Given the description of an element on the screen output the (x, y) to click on. 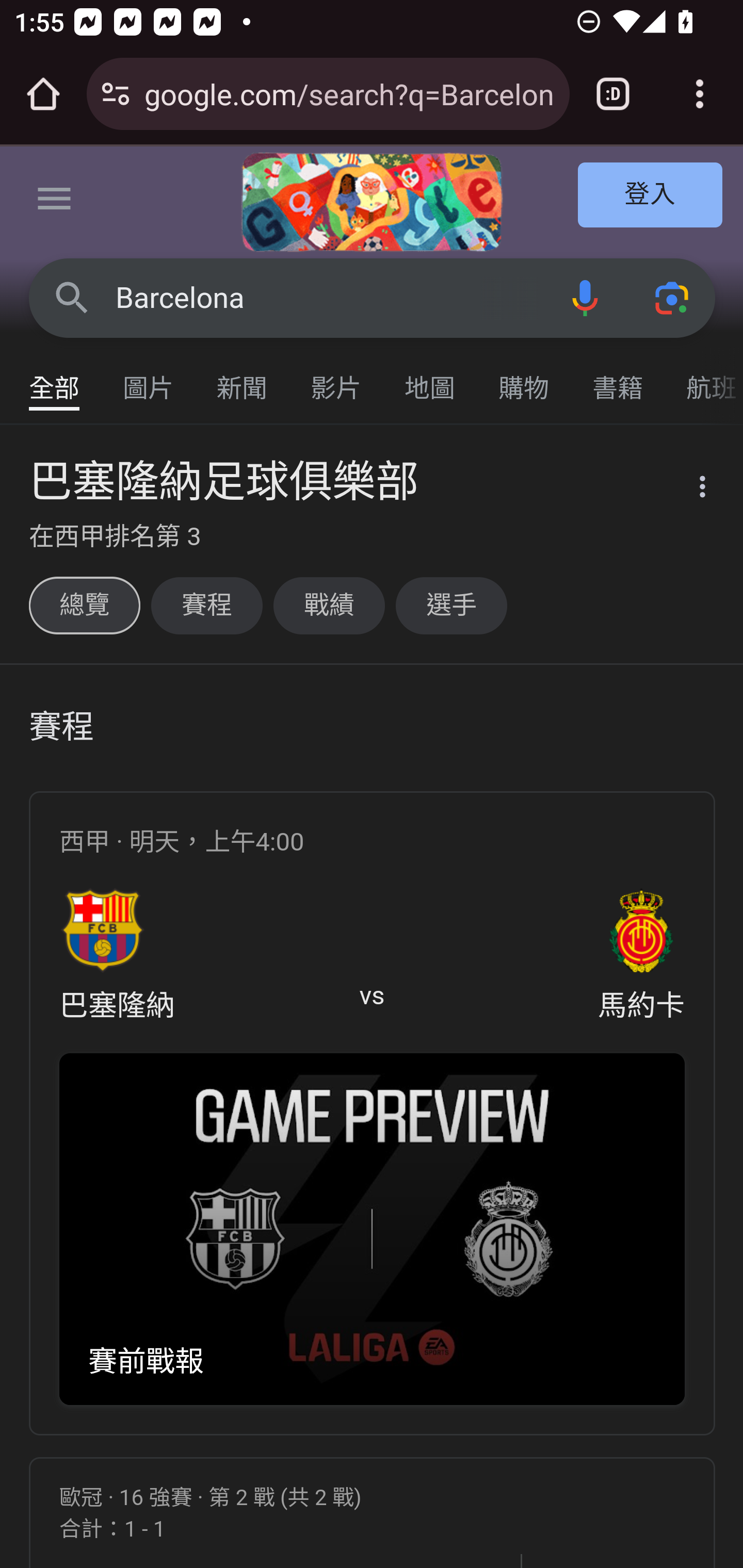
Open the home page (43, 93)
Connection is secure (115, 93)
Switch or close tabs (612, 93)
Customize and control Google Chrome (699, 93)
2024 年國際婦女節 (371, 202)
主選單 (54, 202)
登入 (650, 195)
Google 搜尋 (71, 296)
使用相機或相片搜尋 (672, 296)
Barcelona (328, 297)
圖片 (148, 378)
新聞 (242, 378)
影片 (336, 378)
地圖 (430, 378)
購物 (524, 378)
書籍 (618, 378)
航班 (703, 378)
更多選項 (690, 489)
總覽 (83, 605)
賽程 (206, 605)
戰績 (329, 605)
選手 (451, 605)
